Given the description of an element on the screen output the (x, y) to click on. 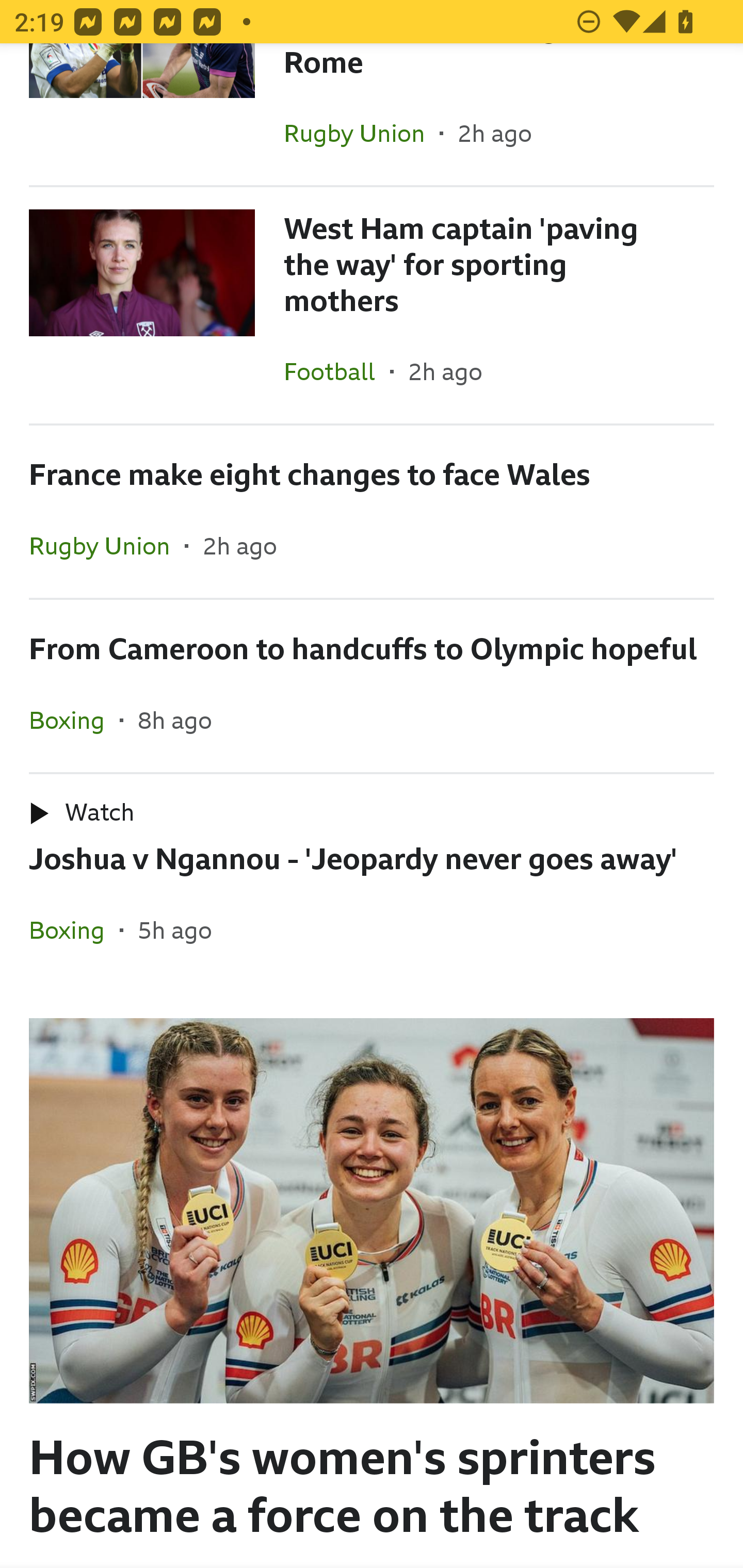
Rugby Union In the section Rugby Union (361, 133)
Football In the section Football (336, 371)
Rugby Union In the section Rugby Union (106, 545)
Boxing In the section Boxing (73, 719)
Boxing In the section Boxing (73, 929)
